Given the description of an element on the screen output the (x, y) to click on. 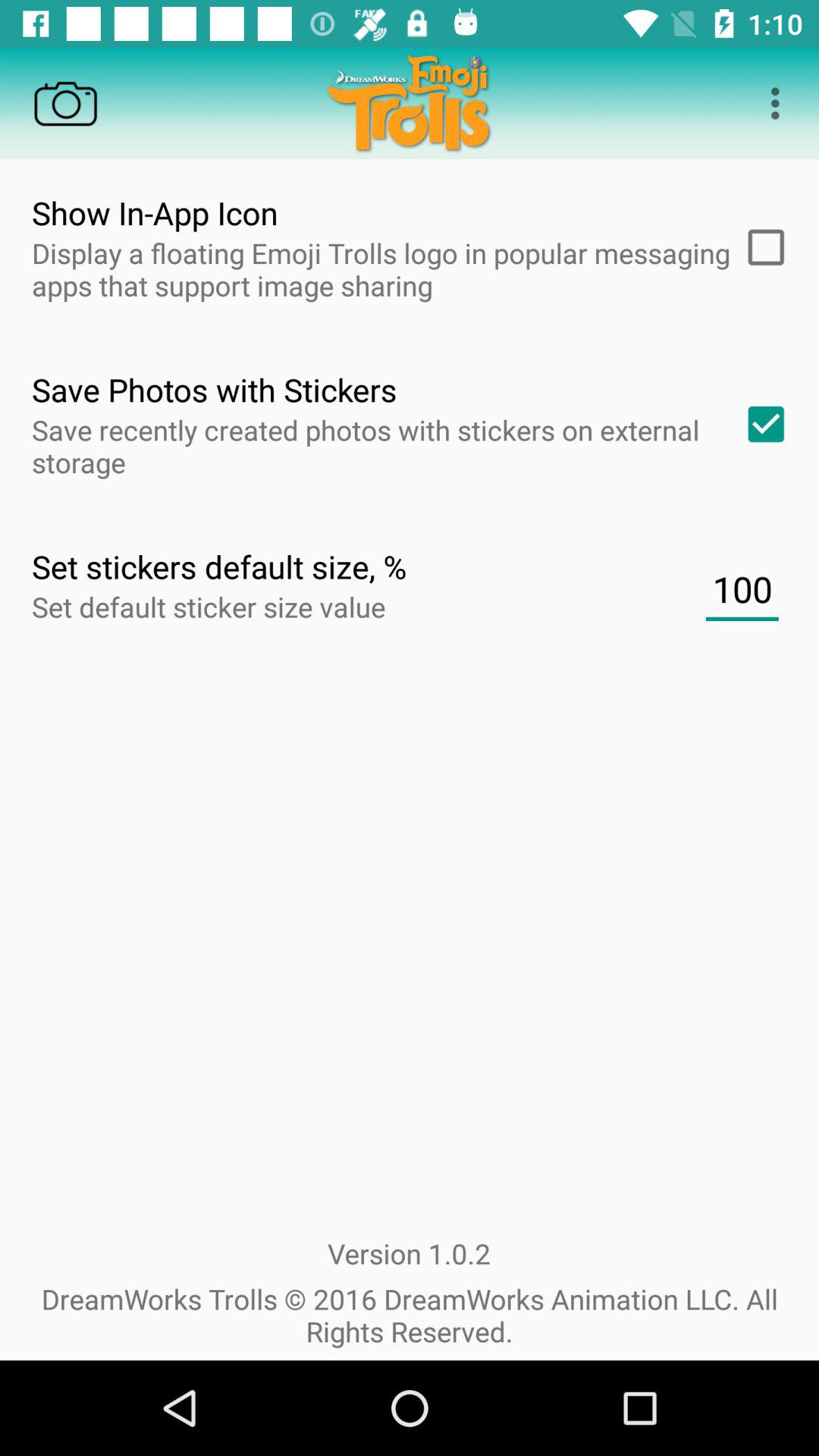
select icon above the 100 icon (760, 424)
